Given the description of an element on the screen output the (x, y) to click on. 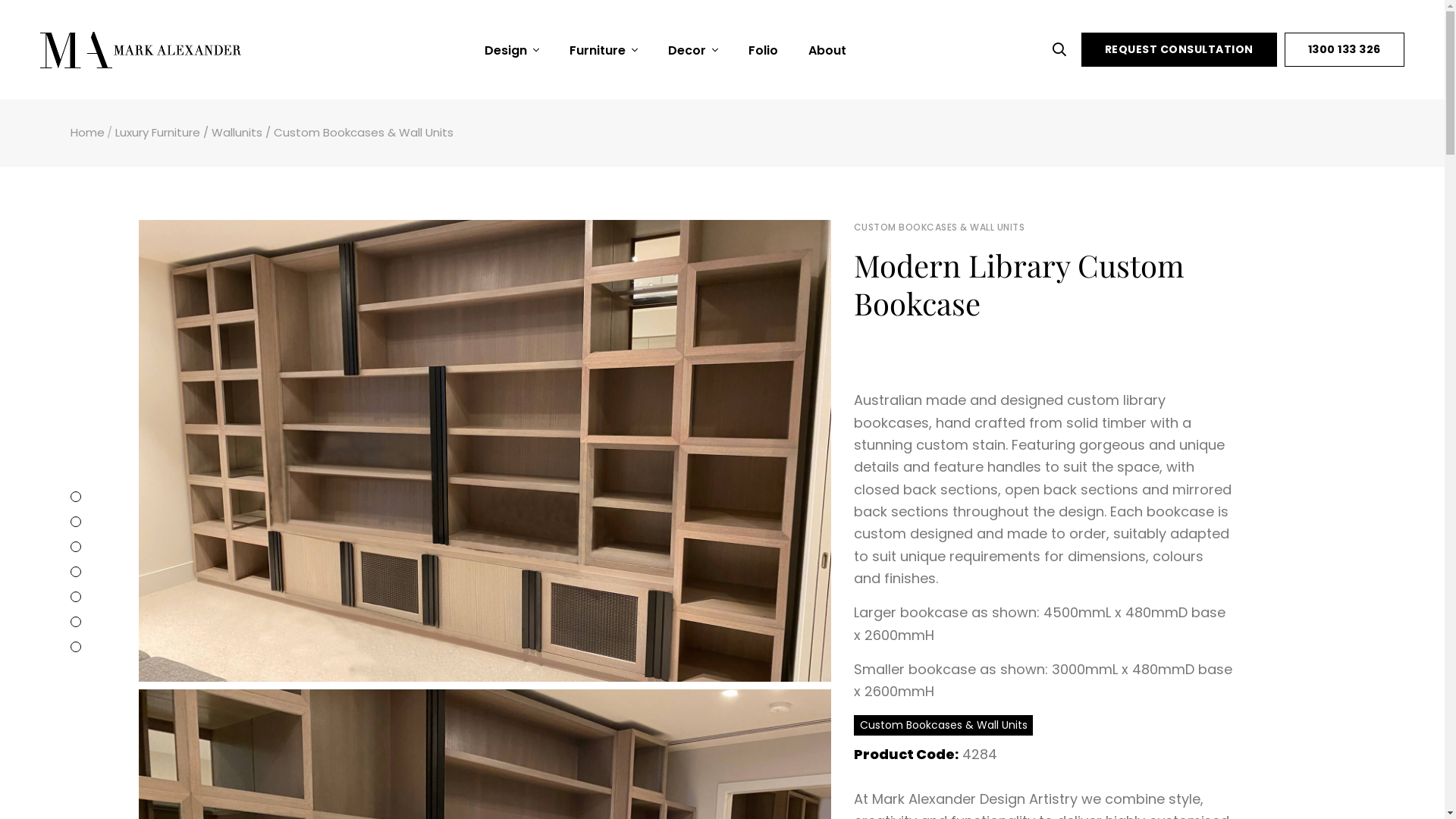
About Element type: text (827, 50)
Home Element type: text (86, 132)
Folio Element type: text (763, 50)
1300 133 326 Element type: text (1344, 49)
REQUEST CONSULTATION Element type: text (1179, 49)
Luxury Furniture Element type: text (157, 132)
Search Element type: hover (1062, 49)
Custom Bookcases & Wall Units Element type: text (363, 132)
Design Element type: text (511, 50)
Wallunits Element type: text (236, 132)
Furniture Element type: text (603, 50)
Custom Bookcases & Wall Units Element type: text (942, 725)
Decor Element type: text (693, 50)
